Given the description of an element on the screen output the (x, y) to click on. 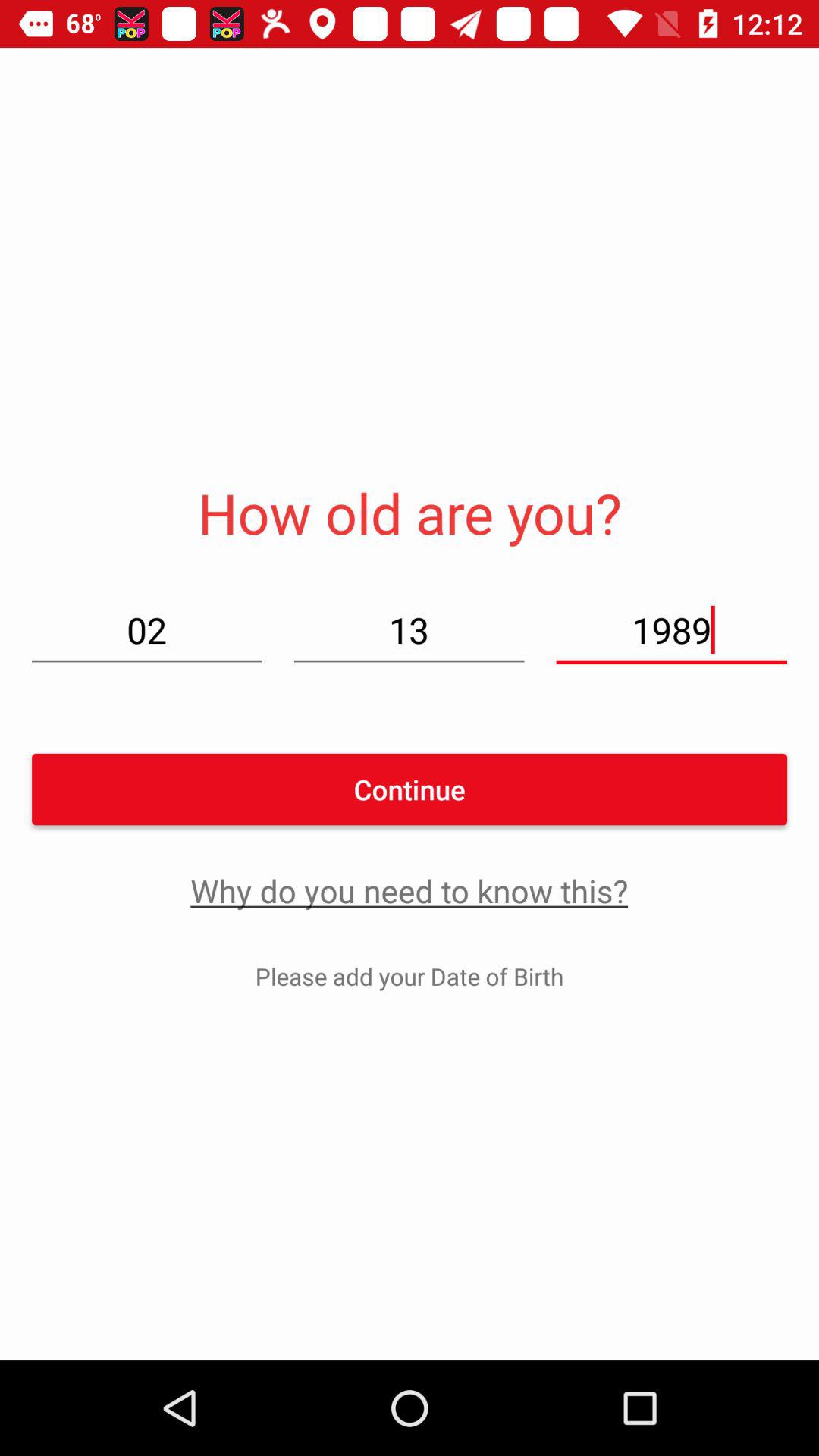
turn on item to the left of the 13 (146, 629)
